Given the description of an element on the screen output the (x, y) to click on. 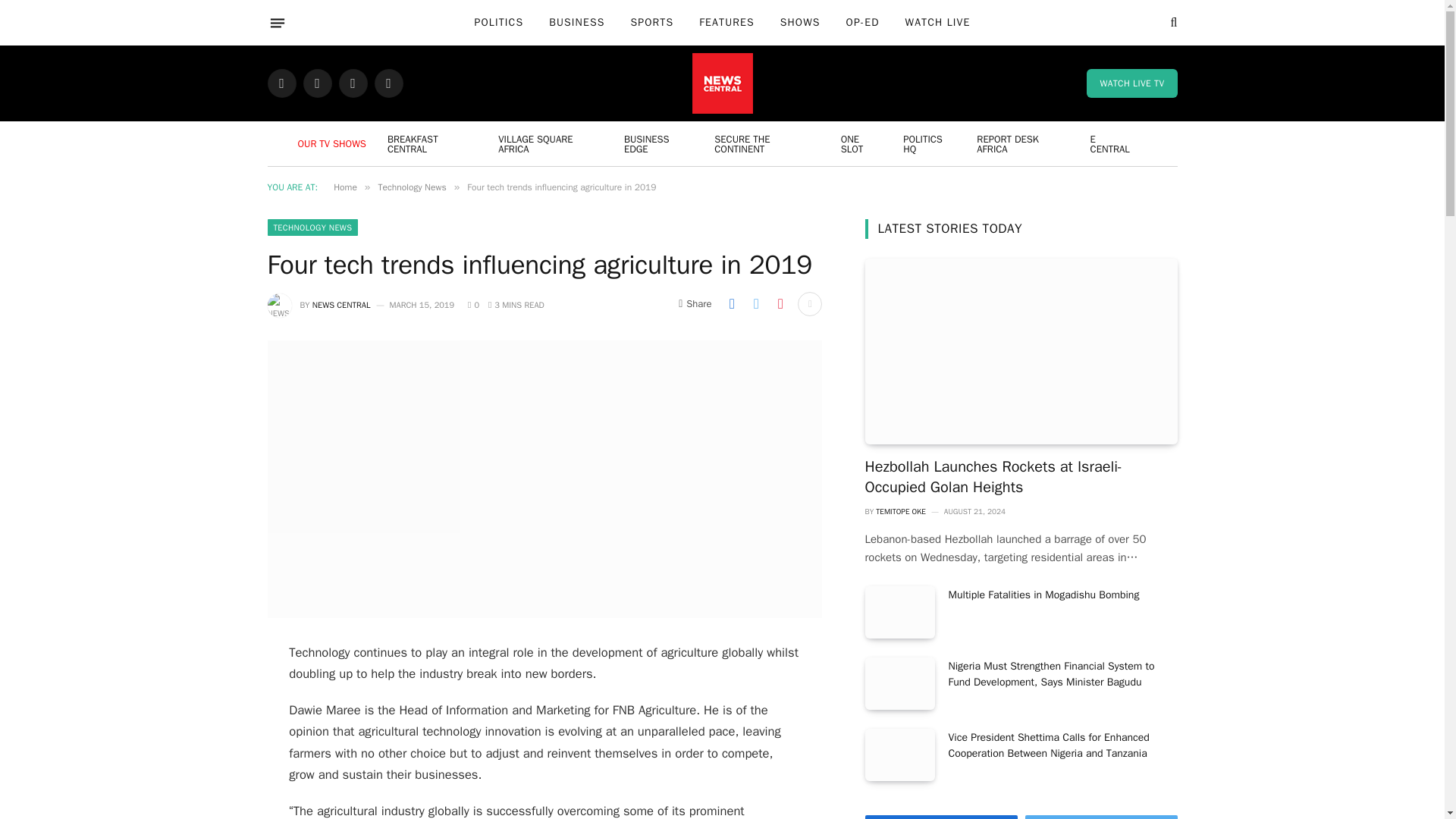
OP-ED (862, 22)
WATCH LIVE (938, 22)
SHOWS (799, 22)
Home (344, 186)
Posts by News Central (342, 304)
YouTube (388, 82)
FEATURES (726, 22)
TECHNOLOGY NEWS (312, 227)
VILLAGE SQUARE AFRICA (550, 143)
ONE SLOT (862, 143)
